Given the description of an element on the screen output the (x, y) to click on. 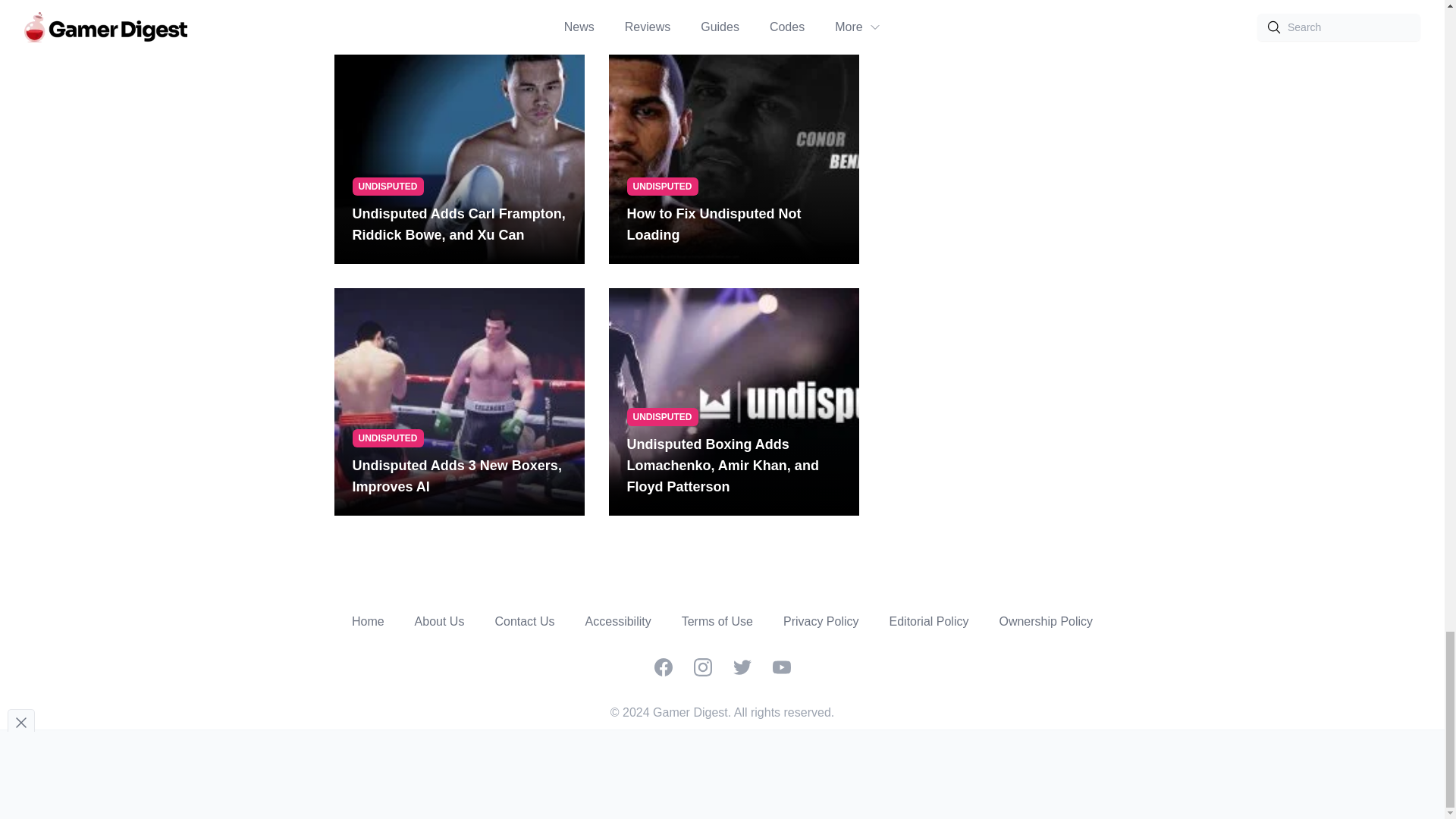
Undisputed Adds Carl Frampton, Riddick Bowe, and Xu Can (459, 224)
UNDISPUTED (387, 438)
UNDISPUTED (661, 416)
UNDISPUTED (661, 186)
How to Fix Undisputed Not Loading (733, 224)
UNDISPUTED (387, 186)
Undisputed Adds 3 New Boxers, Improves AI (459, 476)
